Given the description of an element on the screen output the (x, y) to click on. 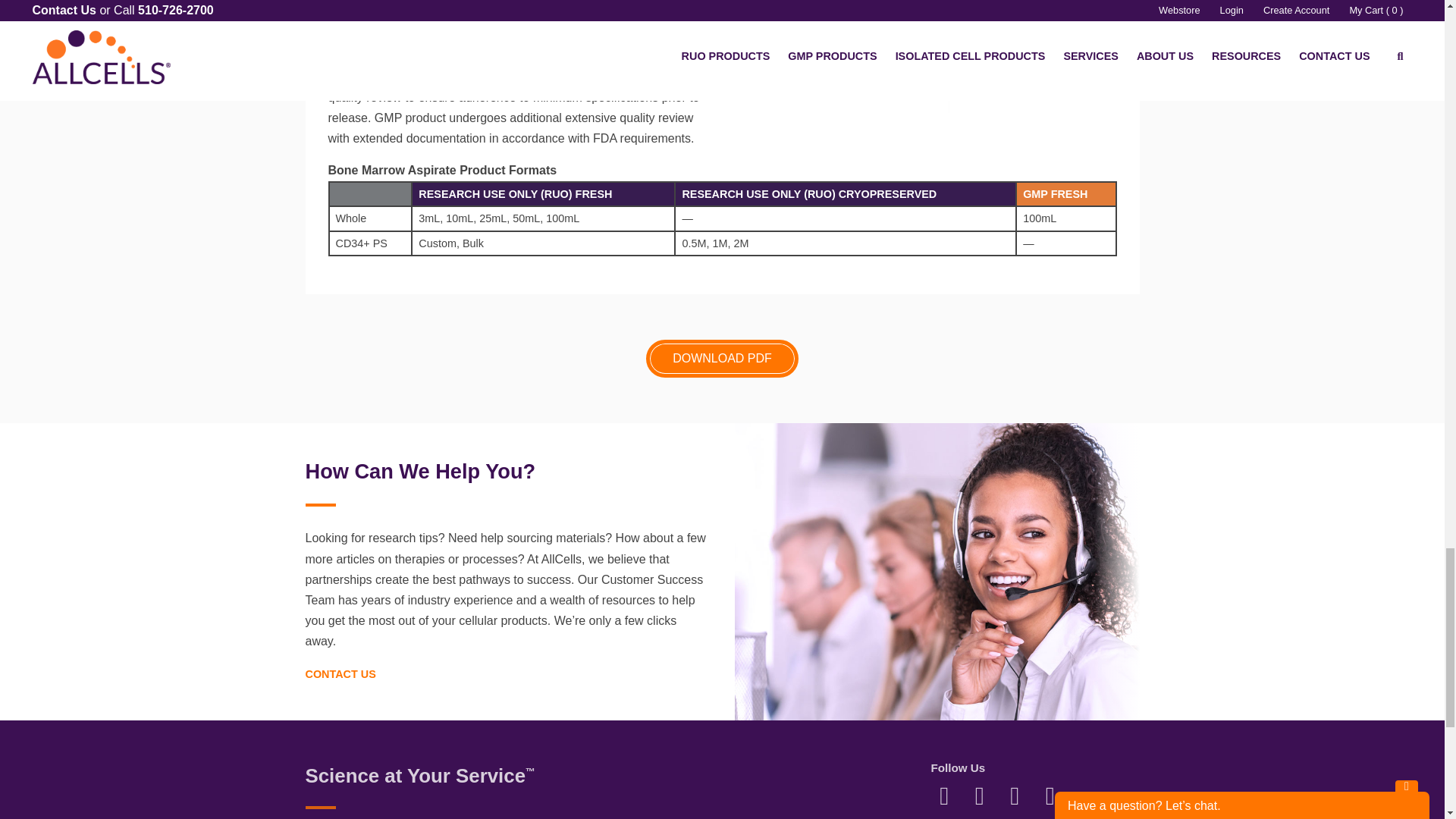
Instagram (1014, 794)
LinkedIn (979, 794)
Twitter (1049, 794)
Facebook (943, 794)
